Given the description of an element on the screen output the (x, y) to click on. 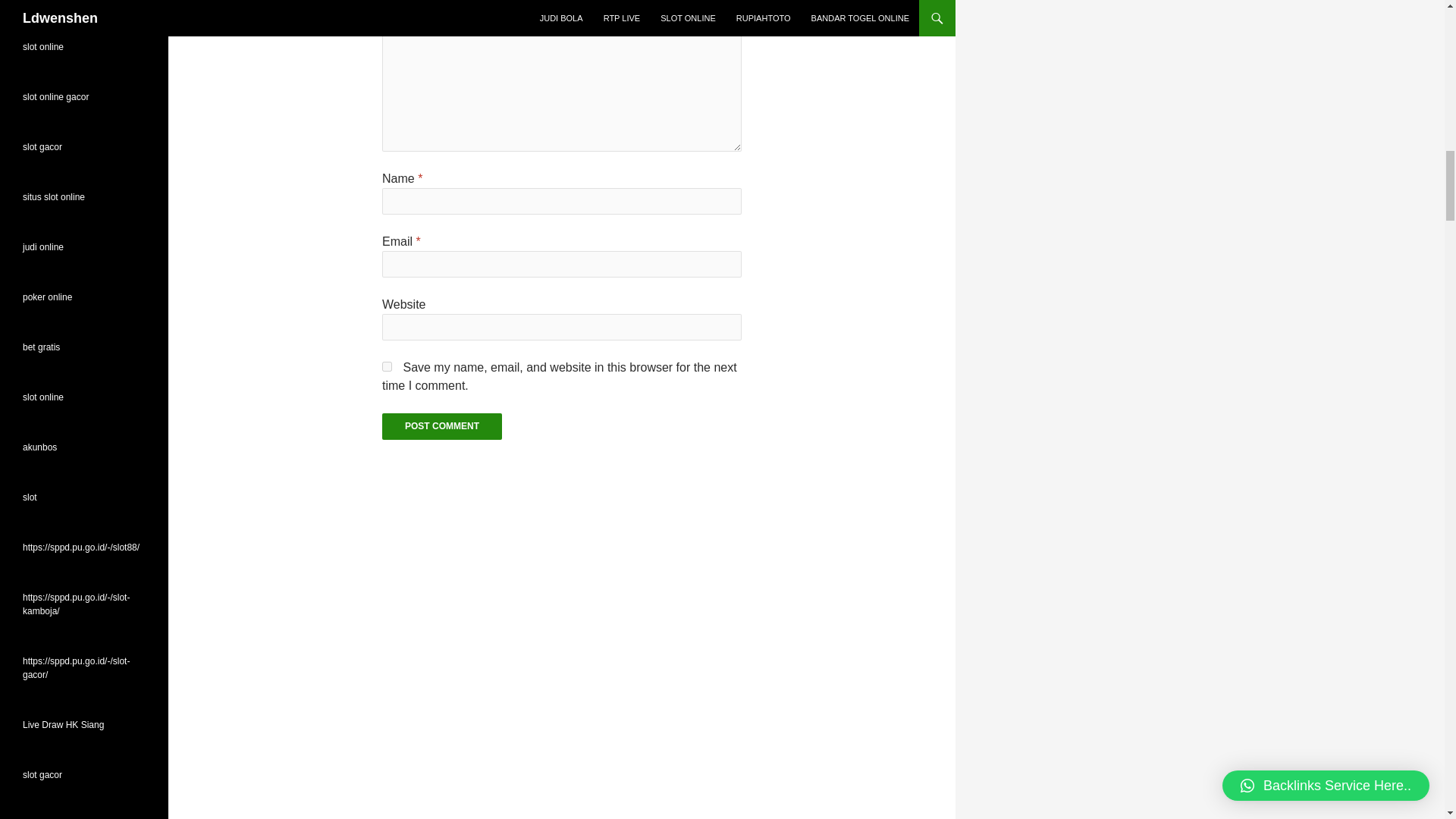
yes (386, 366)
Post Comment (441, 426)
Post Comment (441, 426)
